Given the description of an element on the screen output the (x, y) to click on. 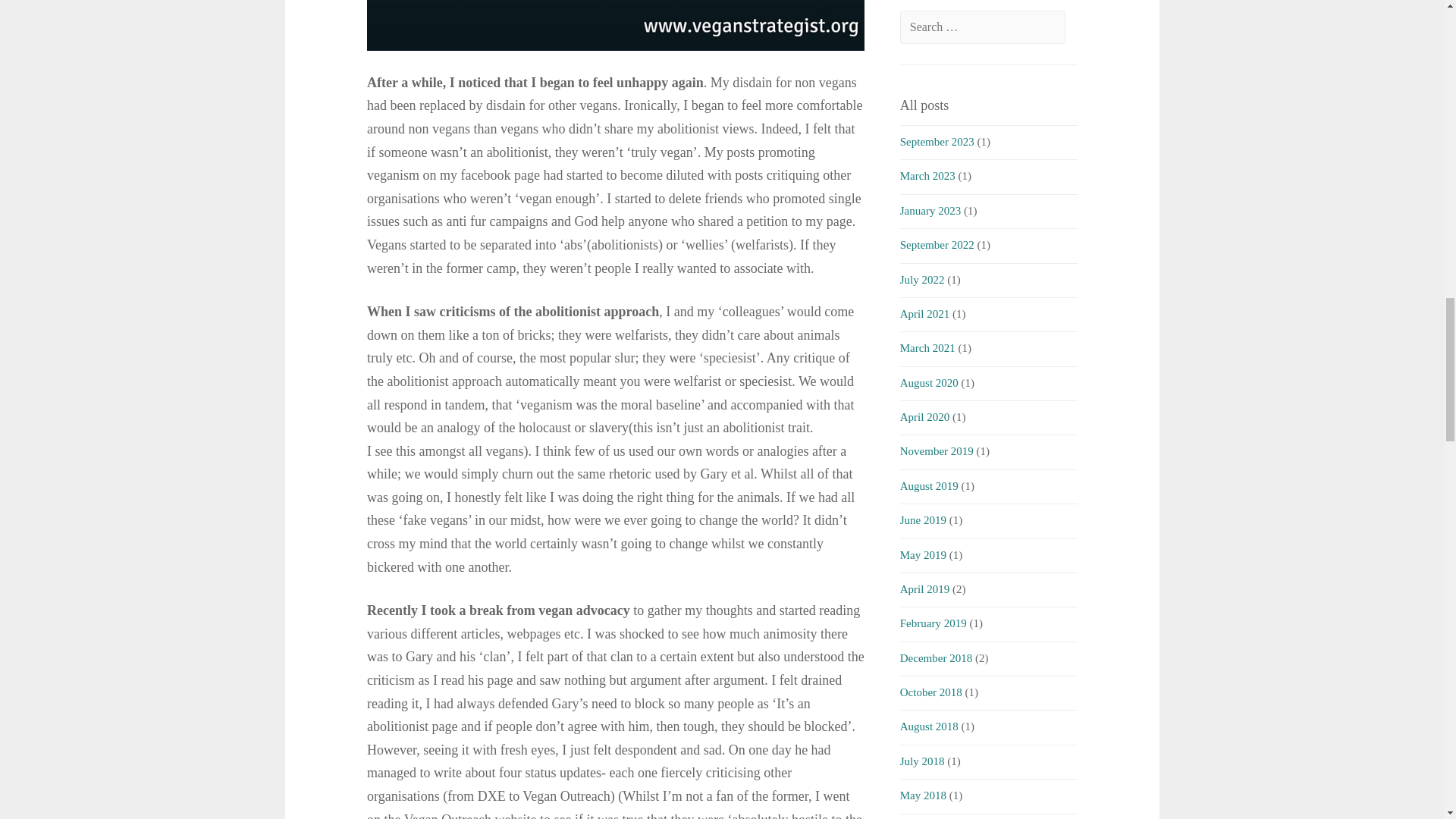
April 2021 (924, 313)
March 2023 (927, 175)
March 2021 (927, 347)
July 2022 (921, 279)
September 2022 (936, 244)
April 2020 (924, 417)
September 2023 (936, 141)
August 2020 (928, 382)
January 2023 (929, 210)
